Given the description of an element on the screen output the (x, y) to click on. 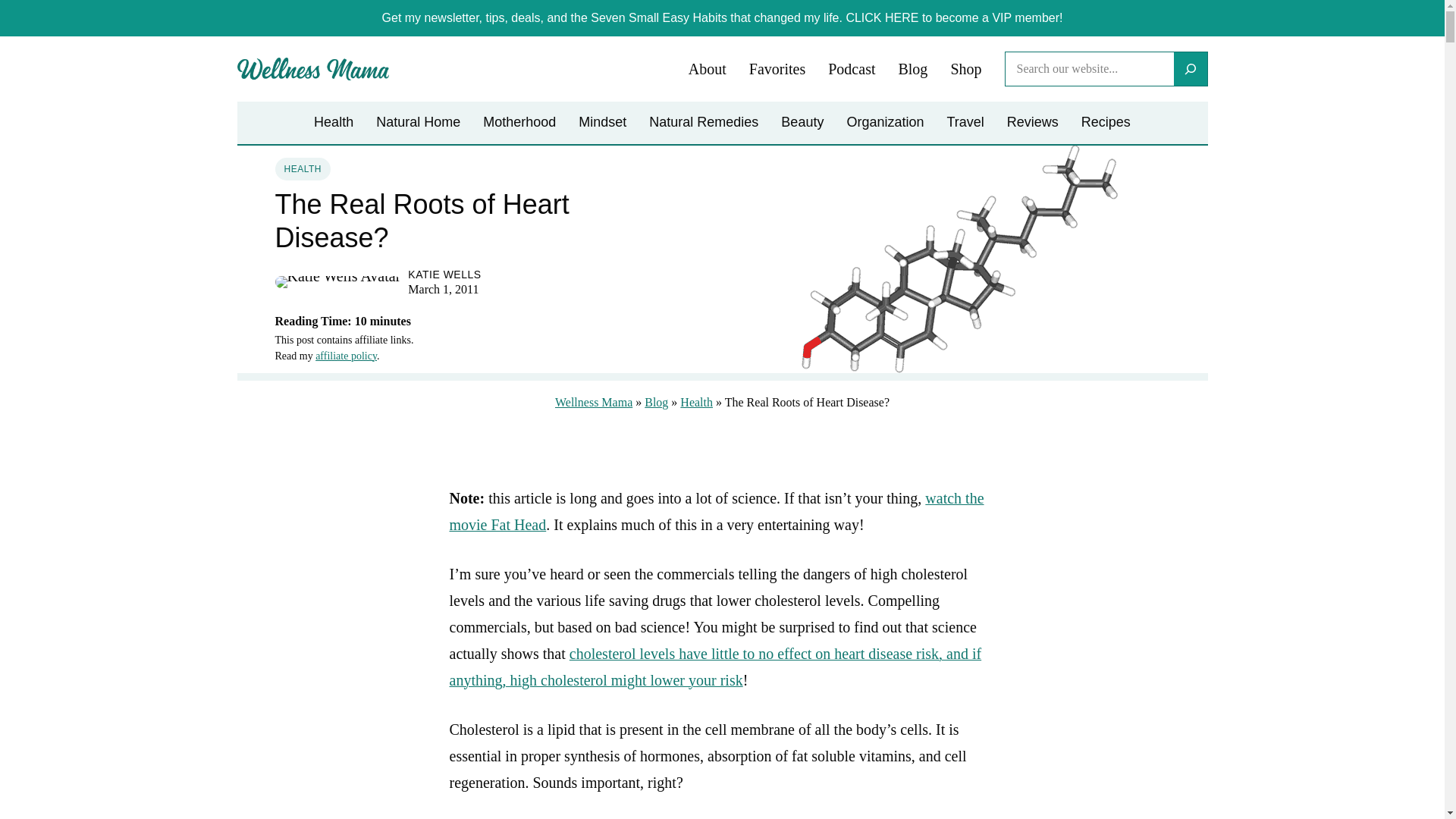
Natural Remedies (703, 122)
Mindset (602, 122)
Natural Home (417, 122)
Motherhood (519, 122)
Beauty (802, 122)
Recipes (1106, 122)
Blog (656, 401)
Reviews (1032, 122)
fathead movie (716, 511)
Organization (884, 122)
watch the movie Fat Head (716, 511)
HEALTH (302, 169)
Health (333, 122)
Blog (912, 69)
